Given the description of an element on the screen output the (x, y) to click on. 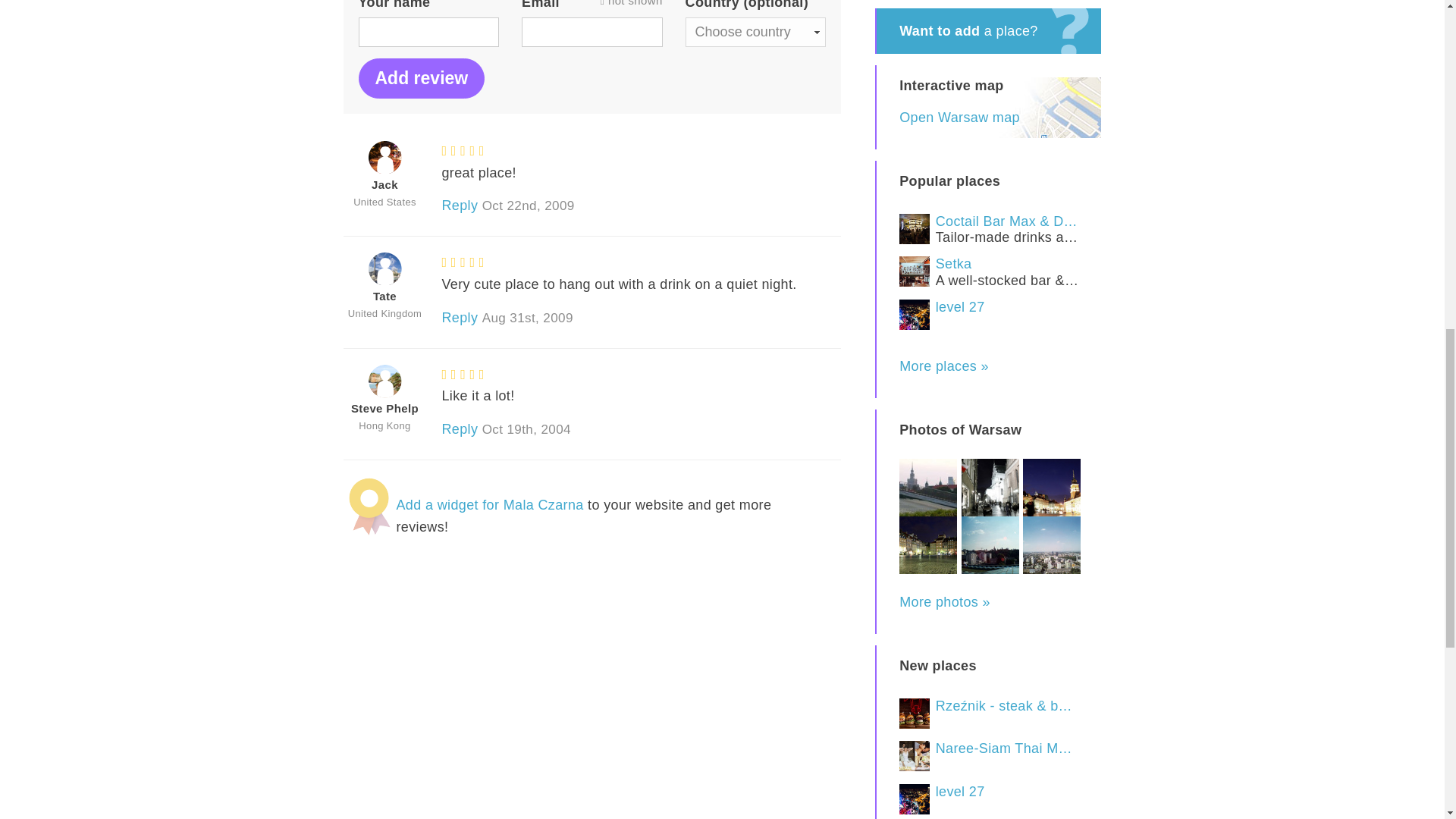
Reply (459, 205)
Add review (421, 78)
Reply (459, 428)
Add a widget for Mala Czarna (489, 504)
Add review (421, 78)
level 27 (988, 315)
Want to add a place? (988, 31)
Open Warsaw map (959, 117)
Reply (459, 317)
